Given the description of an element on the screen output the (x, y) to click on. 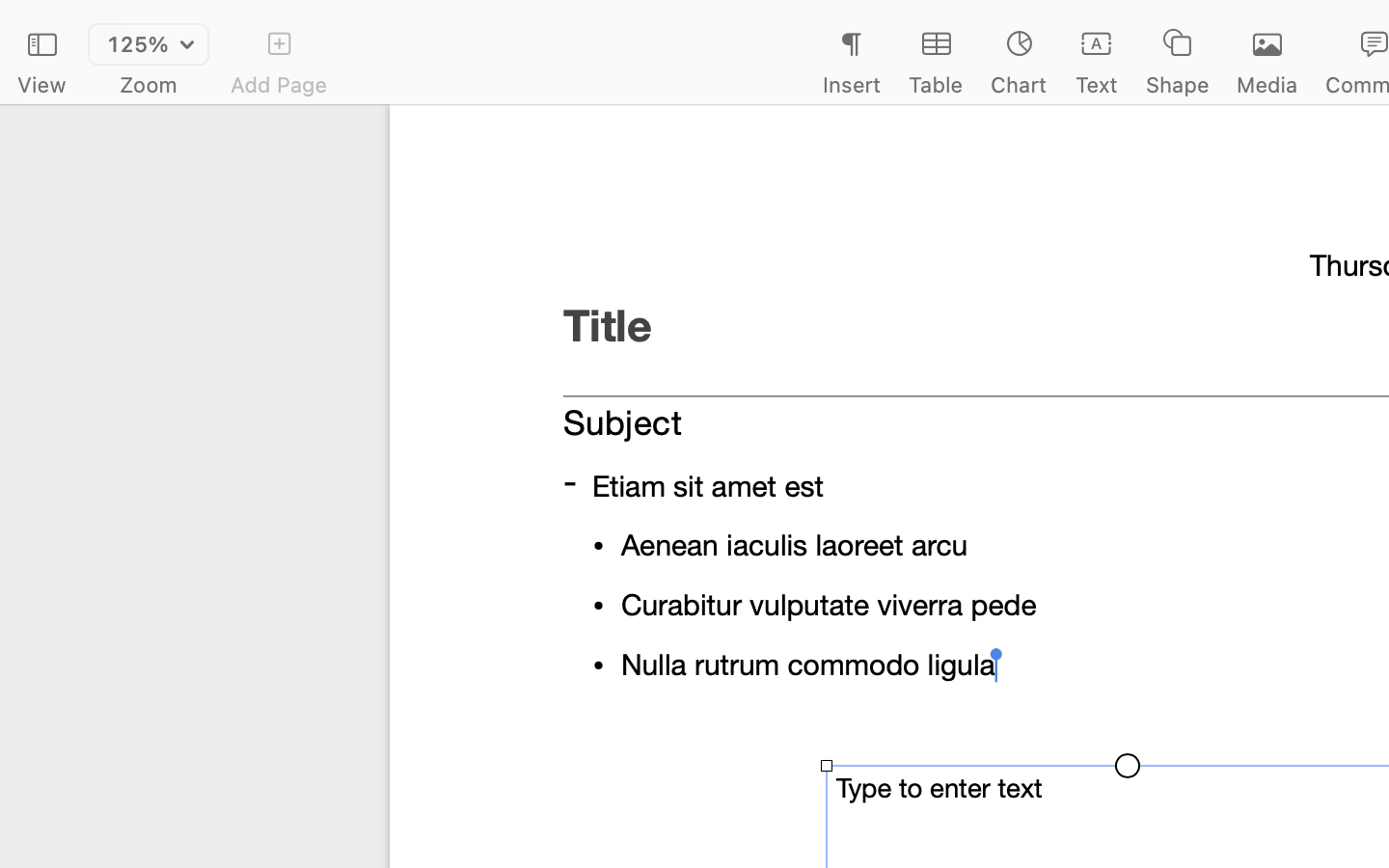
Click to link text boxes together. Element type: AXStaticText (1126, 568)
Media Element type: AXStaticText (1267, 84)
Untitled Element type: AXStaticText (1334, 24)
Insert Element type: AXStaticText (850, 84)
Zoom Element type: AXStaticText (148, 84)
